Given the description of an element on the screen output the (x, y) to click on. 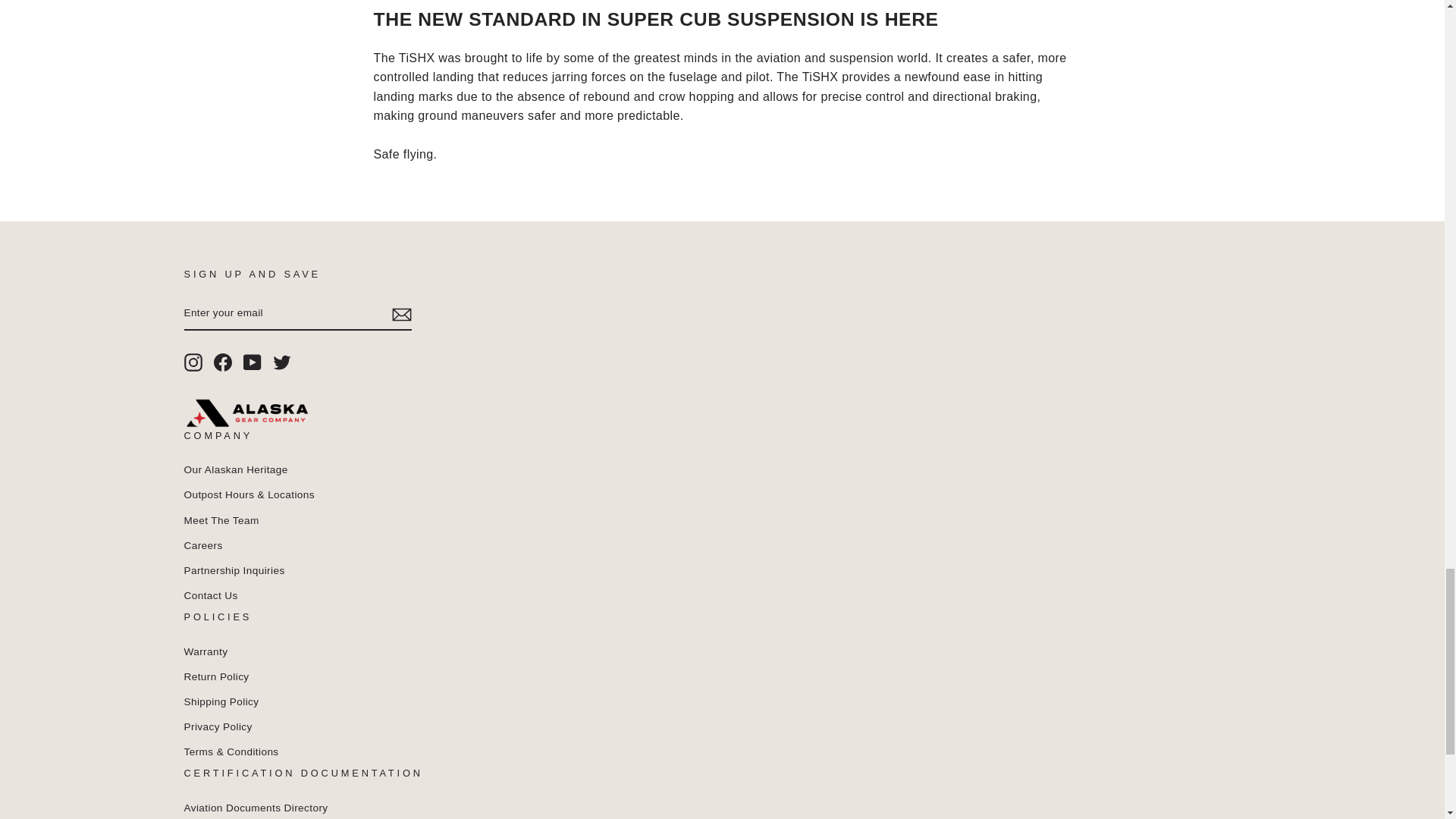
Alaska Gear Company on Twitter (282, 361)
Alaska Gear Company on YouTube (251, 361)
Alaska Gear Company on Instagram (192, 361)
Alaska Gear Company on Facebook (222, 361)
